Given the description of an element on the screen output the (x, y) to click on. 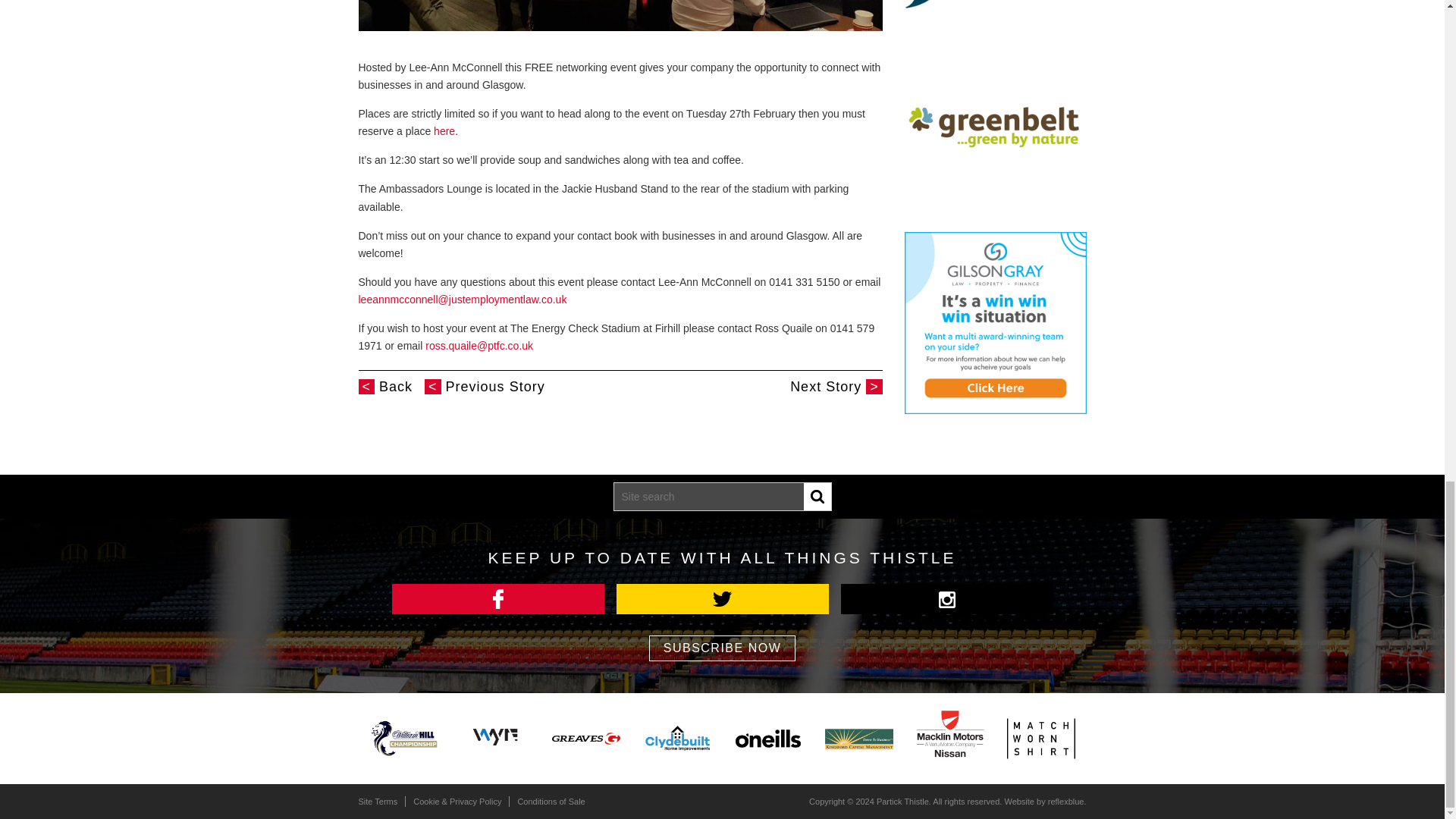
here (443, 131)
